Given the description of an element on the screen output the (x, y) to click on. 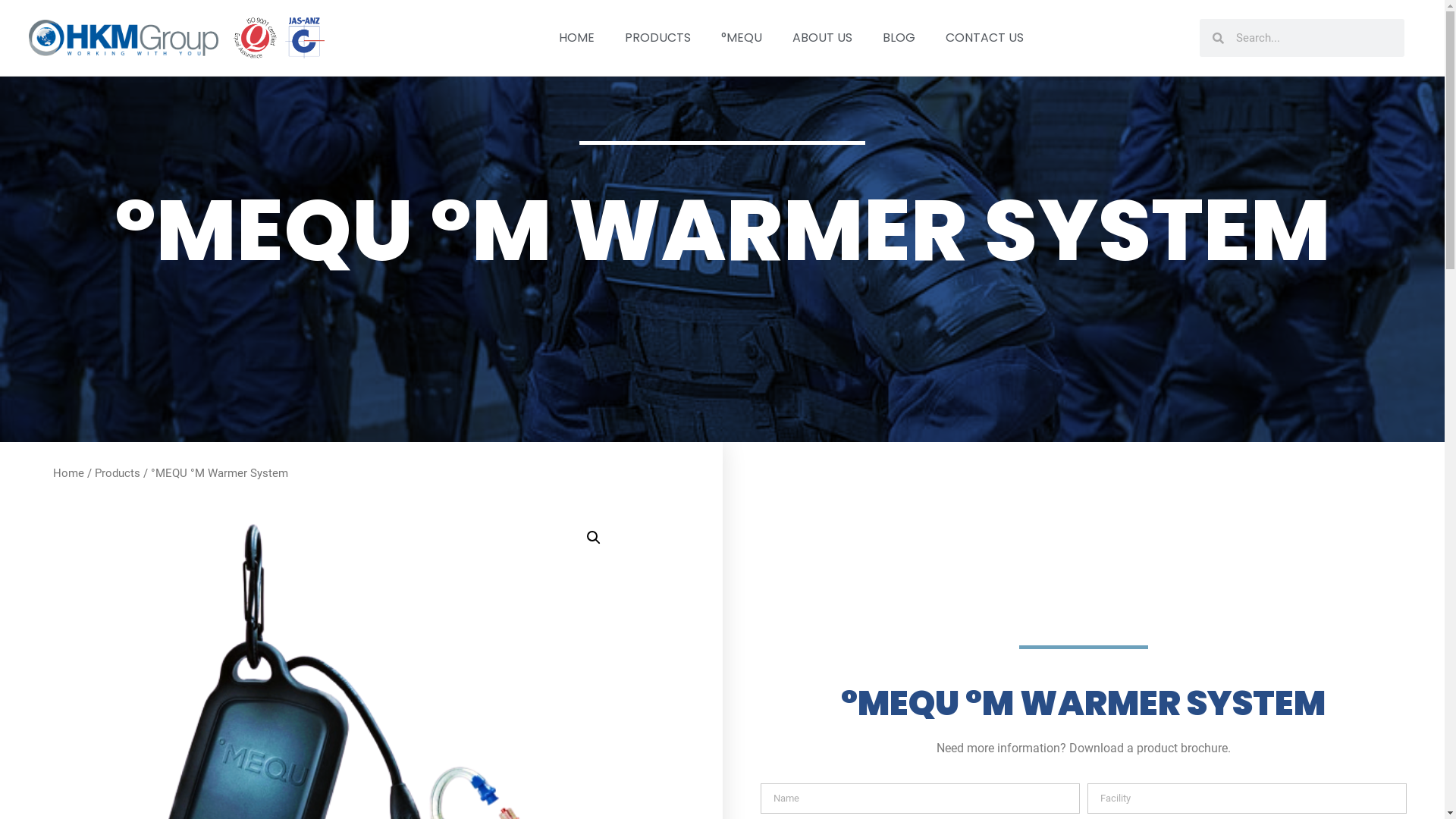
BLOG Element type: text (898, 37)
Products Element type: text (117, 473)
CONTACT US Element type: text (984, 37)
PRODUCTS Element type: text (657, 37)
HOME Element type: text (576, 37)
ABOUT US Element type: text (822, 37)
Home Element type: text (68, 473)
